Given the description of an element on the screen output the (x, y) to click on. 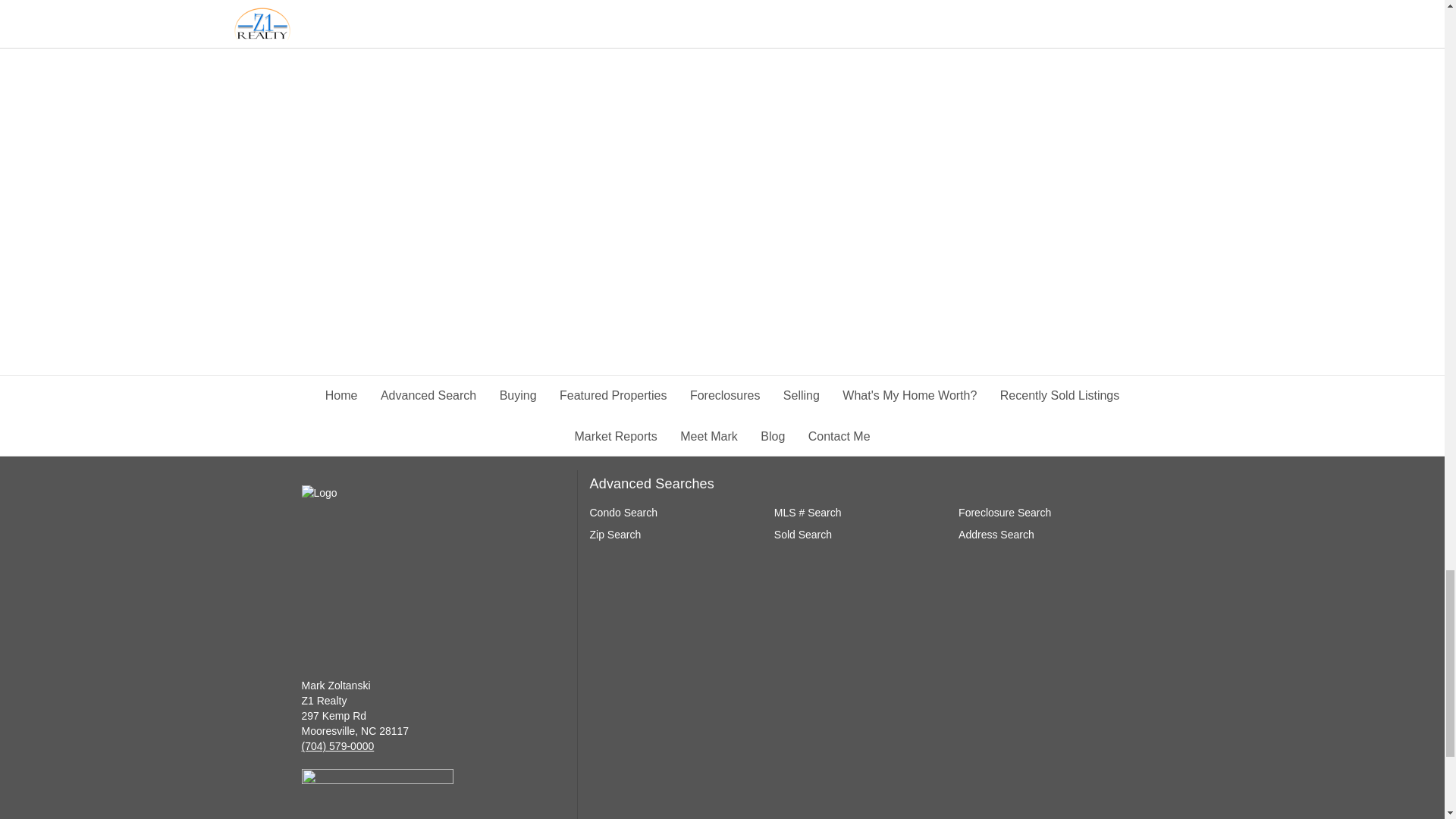
Logo (386, 566)
MLS Logo (376, 794)
